Given the description of an element on the screen output the (x, y) to click on. 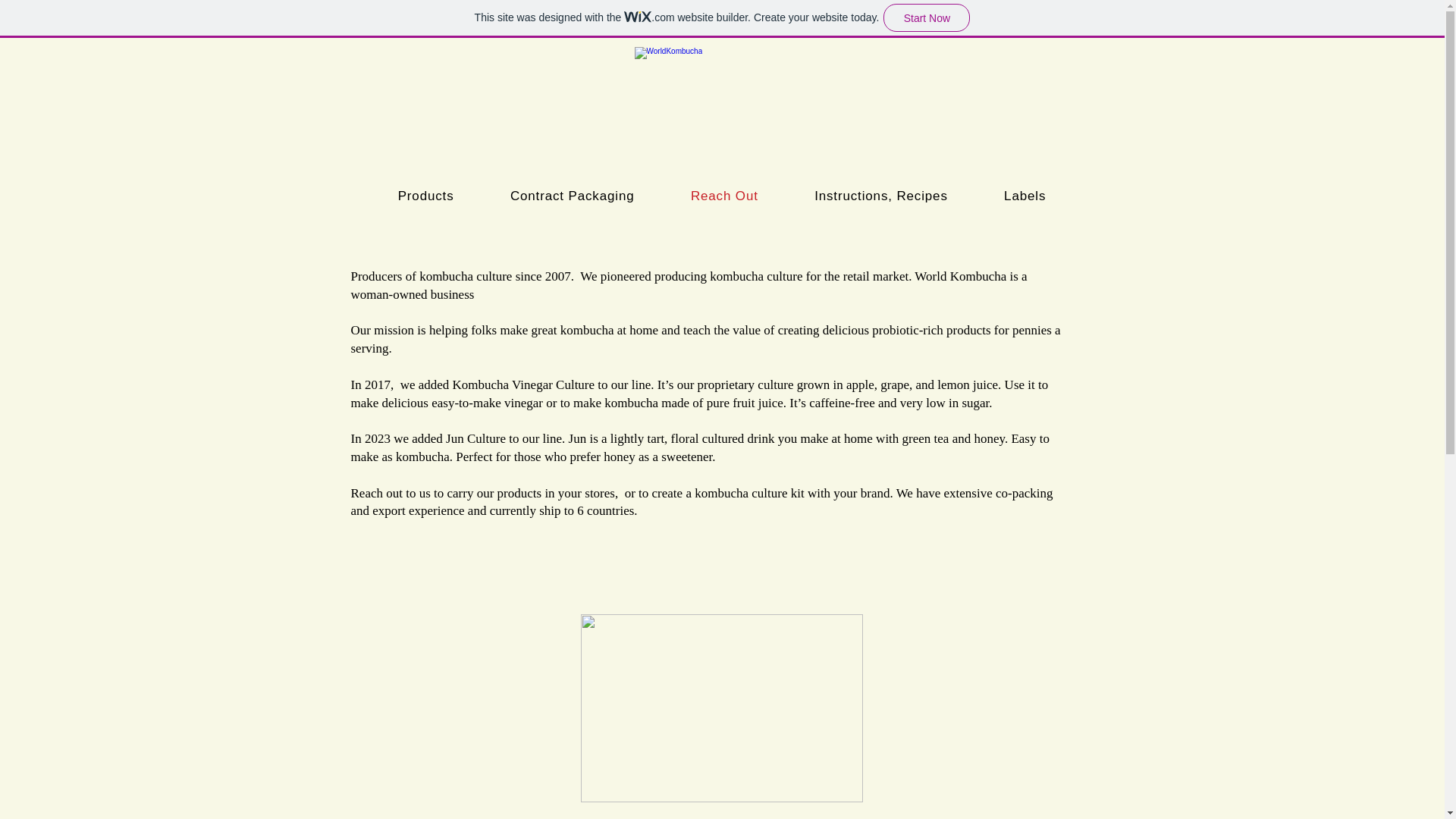
Products (425, 195)
Reach Out (724, 195)
Contract Packaging (571, 195)
Labels (1024, 195)
Instructions, Recipes (880, 195)
